Given the description of an element on the screen output the (x, y) to click on. 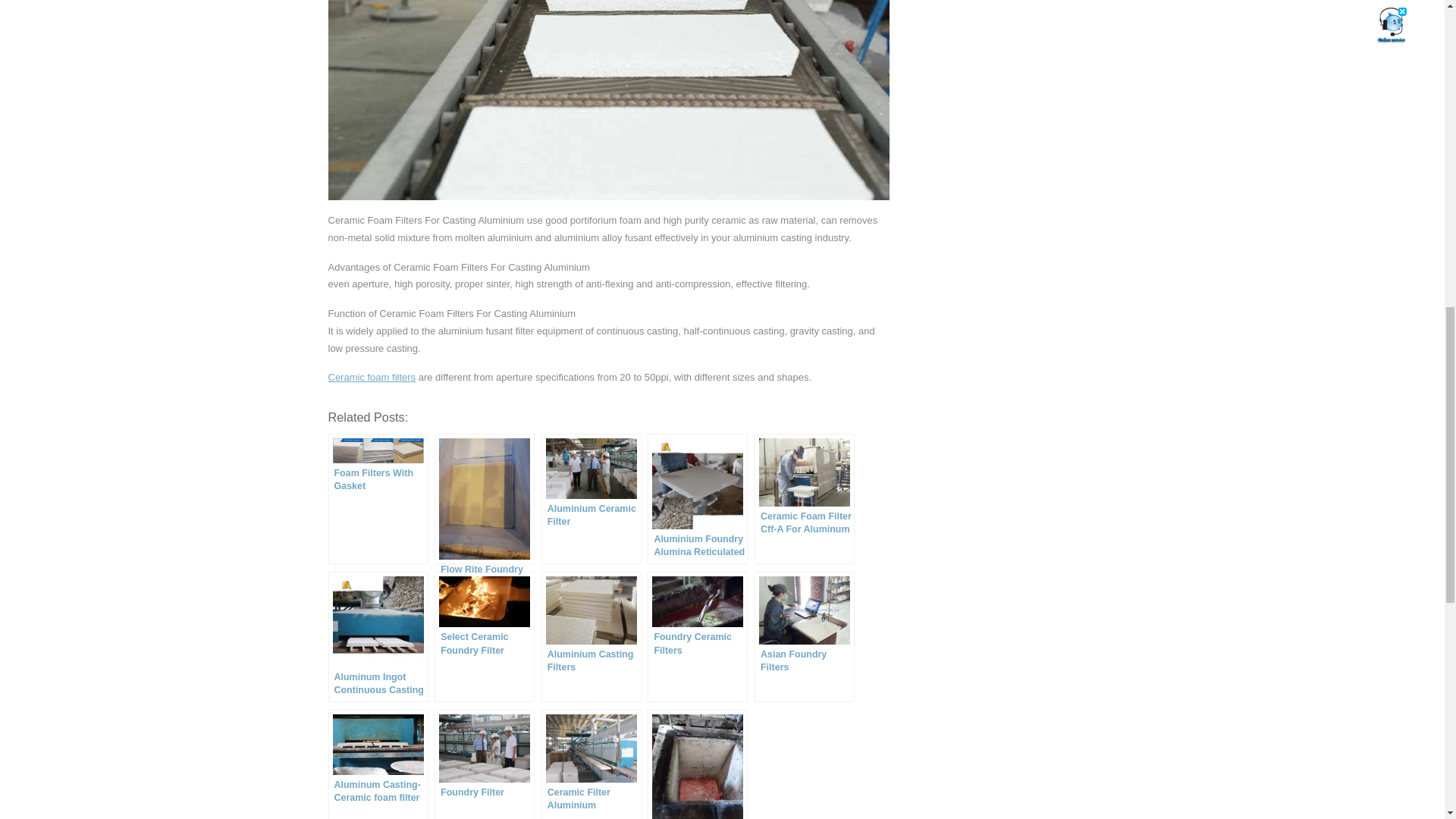
Aluminum Casting-Ceramic foam filter apparatus (377, 764)
Ceramic foam filters (370, 377)
Ceramic Foam Filter Argentina Aluminium (697, 764)
Foundry Filter (483, 764)
Ceramic Filter Aluminium Philippine (591, 764)
